Given the description of an element on the screen output the (x, y) to click on. 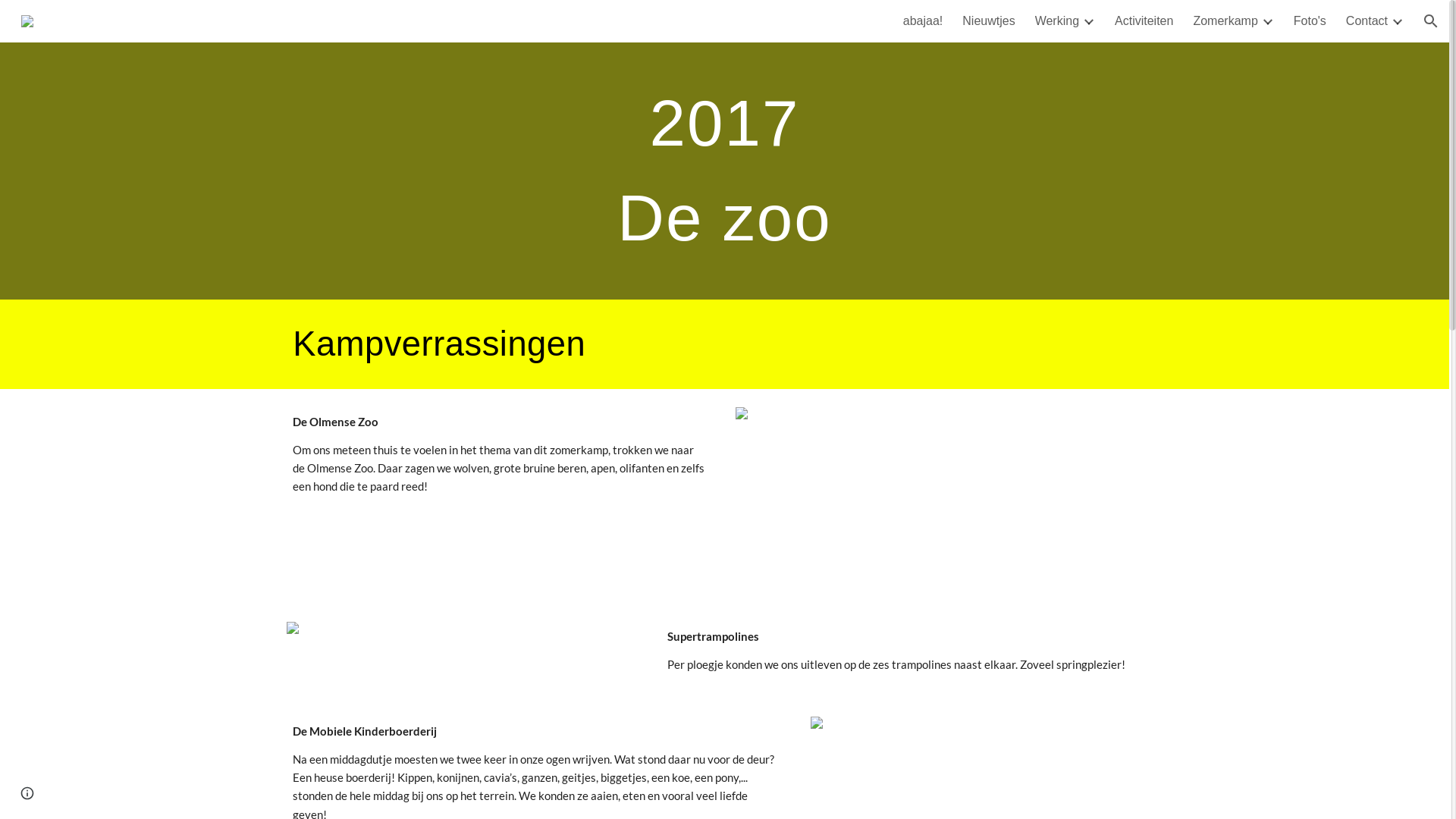
Foto's Element type: text (1309, 21)
Nieuwtjes Element type: text (988, 21)
Expand/Collapse Element type: hover (1267, 21)
Werking Element type: text (1057, 21)
Activiteiten Element type: text (1143, 21)
abajaa! Element type: text (923, 21)
Expand/Collapse Element type: hover (1396, 21)
Zomerkamp Element type: text (1224, 21)
Contact Element type: text (1366, 21)
Expand/Collapse Element type: hover (1088, 21)
